Given the description of an element on the screen output the (x, y) to click on. 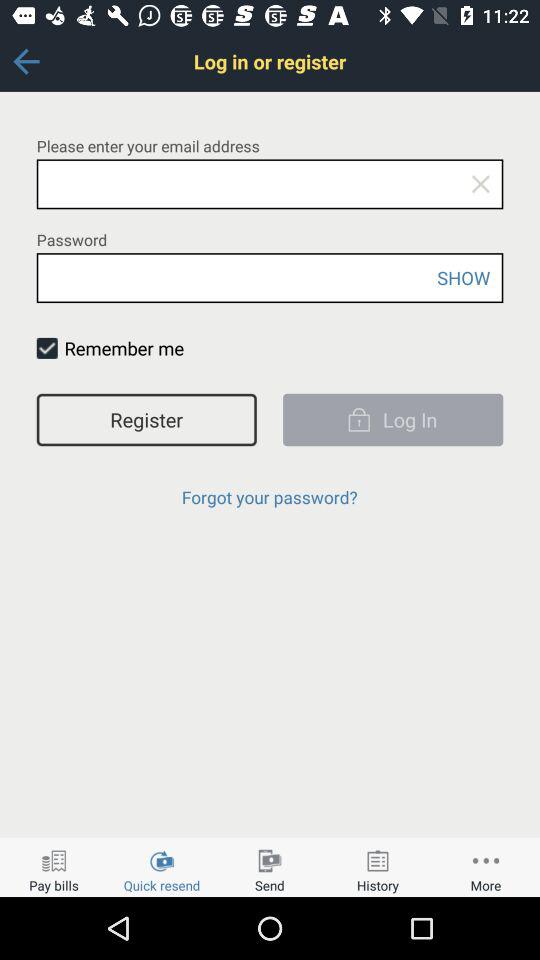
go to previous (26, 61)
